Given the description of an element on the screen output the (x, y) to click on. 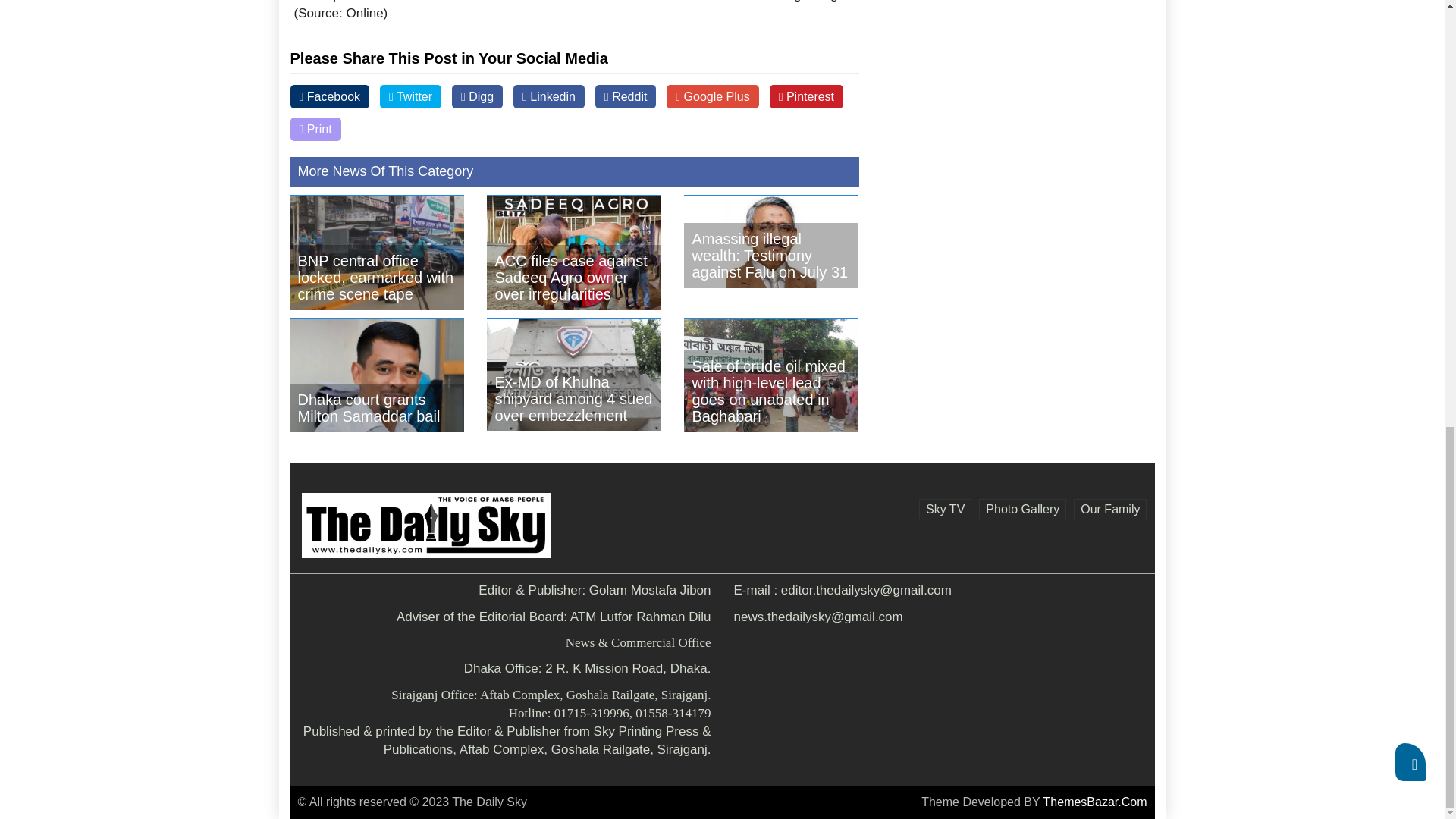
themesbazar (1095, 801)
Digg (476, 96)
Twitter (410, 96)
Facebook (329, 96)
Linkedin (549, 96)
